Given the description of an element on the screen output the (x, y) to click on. 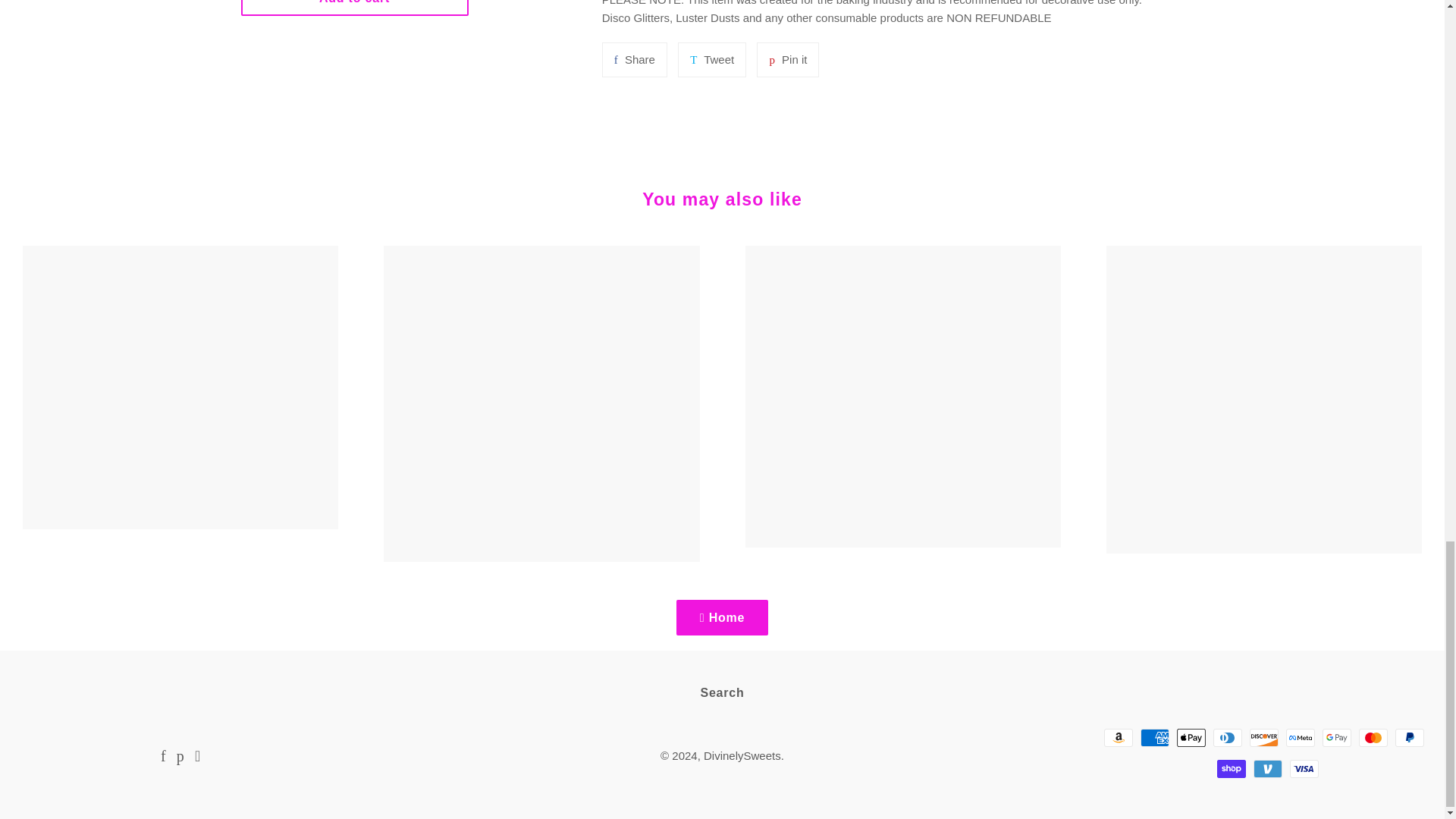
Tweet on Twitter (711, 59)
Share on Facebook (634, 59)
Mastercard (1372, 737)
Pin on Pinterest (787, 59)
American Express (1154, 737)
Diners Club (634, 59)
Apple Pay (787, 59)
Discover (1226, 737)
Meta Pay (1190, 737)
Add to cart (1263, 737)
Amazon (1299, 737)
Visa (354, 7)
PayPal (1117, 737)
